Given the description of an element on the screen output the (x, y) to click on. 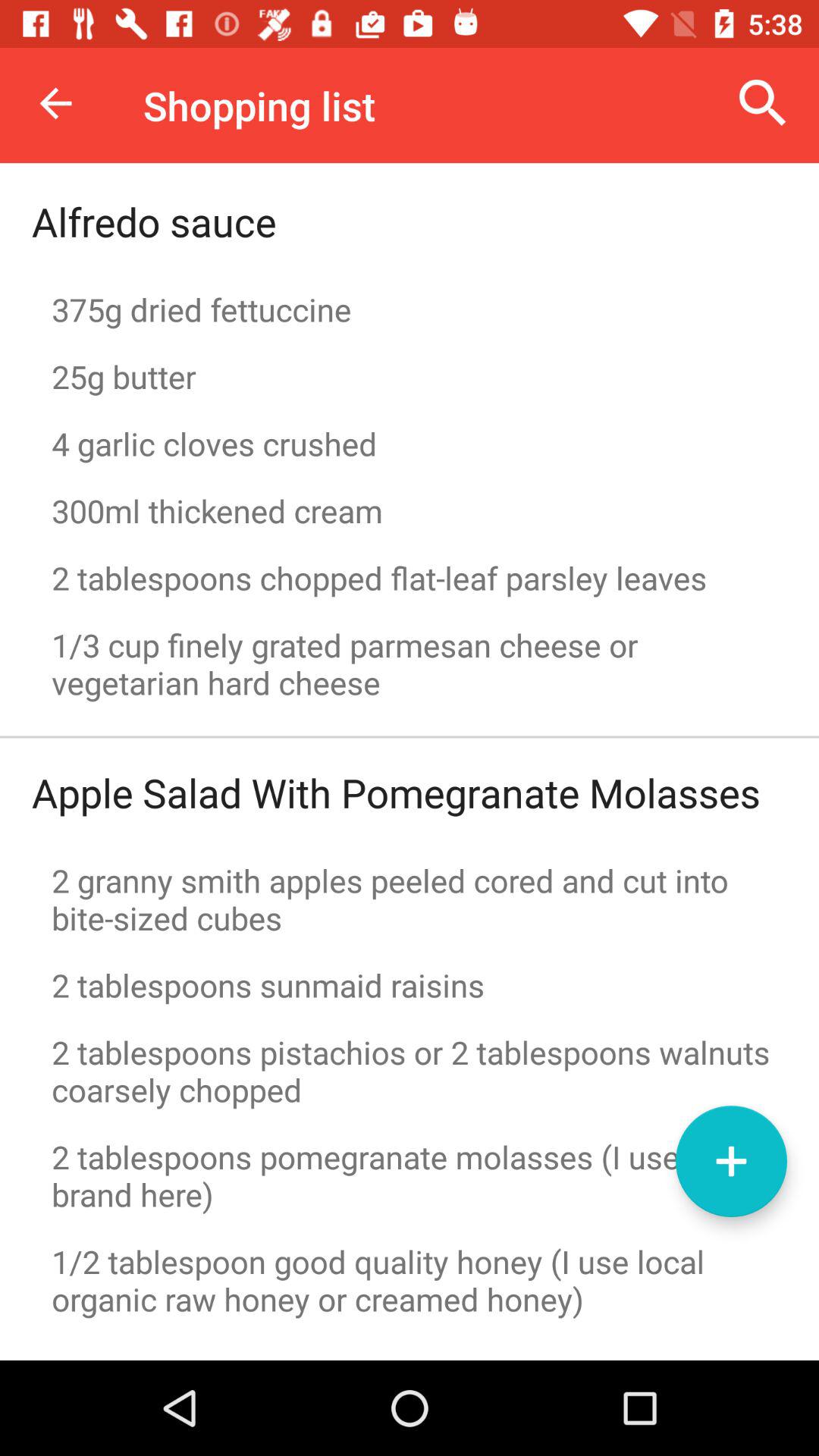
click the icon above the 300ml thickened cream item (409, 443)
